Given the description of an element on the screen output the (x, y) to click on. 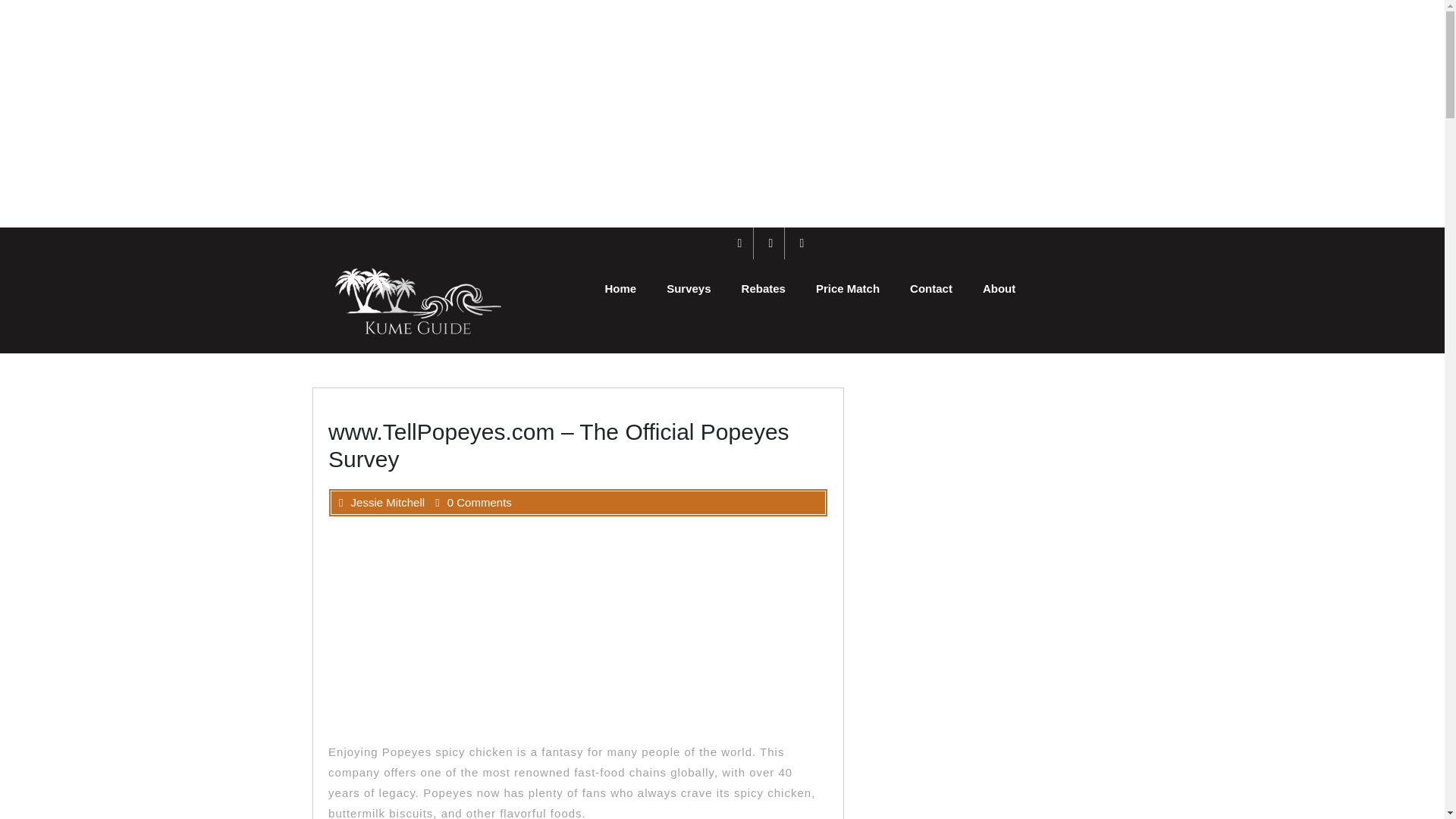
Twitter (771, 242)
Rebates (763, 288)
Facebook (740, 242)
About (999, 288)
Surveys (687, 288)
Advertisement (589, 629)
Price Match (847, 288)
Home (619, 288)
Contact (931, 288)
